Given the description of an element on the screen output the (x, y) to click on. 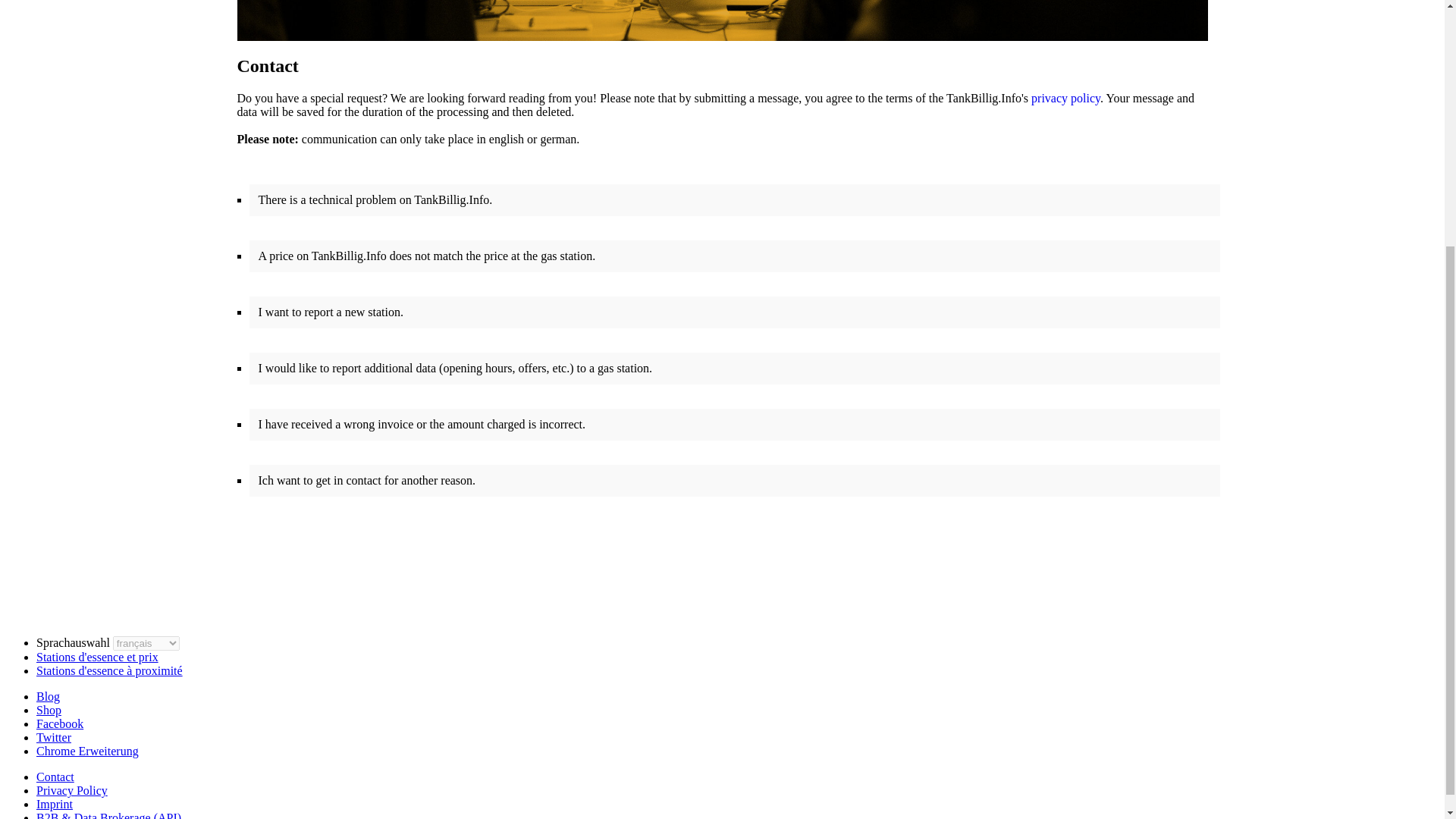
Contact (55, 776)
Chrome Erweiterung (87, 750)
Blog (47, 696)
Twitter (53, 737)
Facebook (59, 723)
Shop (48, 709)
Imprint (54, 803)
Stations d'essence et prix (97, 656)
Privacy Policy (71, 789)
privacy policy (1065, 97)
